Given the description of an element on the screen output the (x, y) to click on. 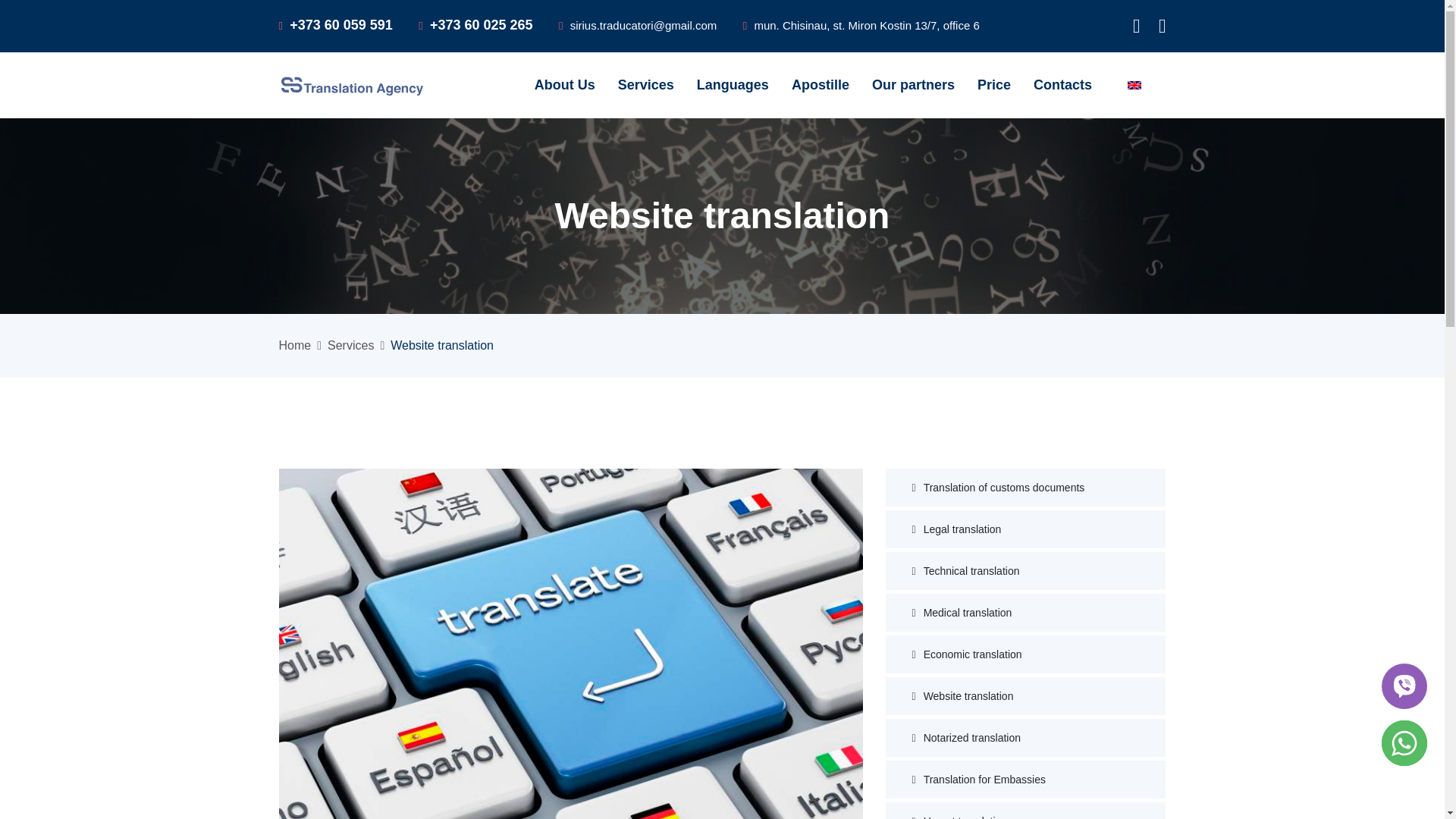
Our partners (913, 84)
About Us (564, 84)
Languages (732, 84)
